Given the description of an element on the screen output the (x, y) to click on. 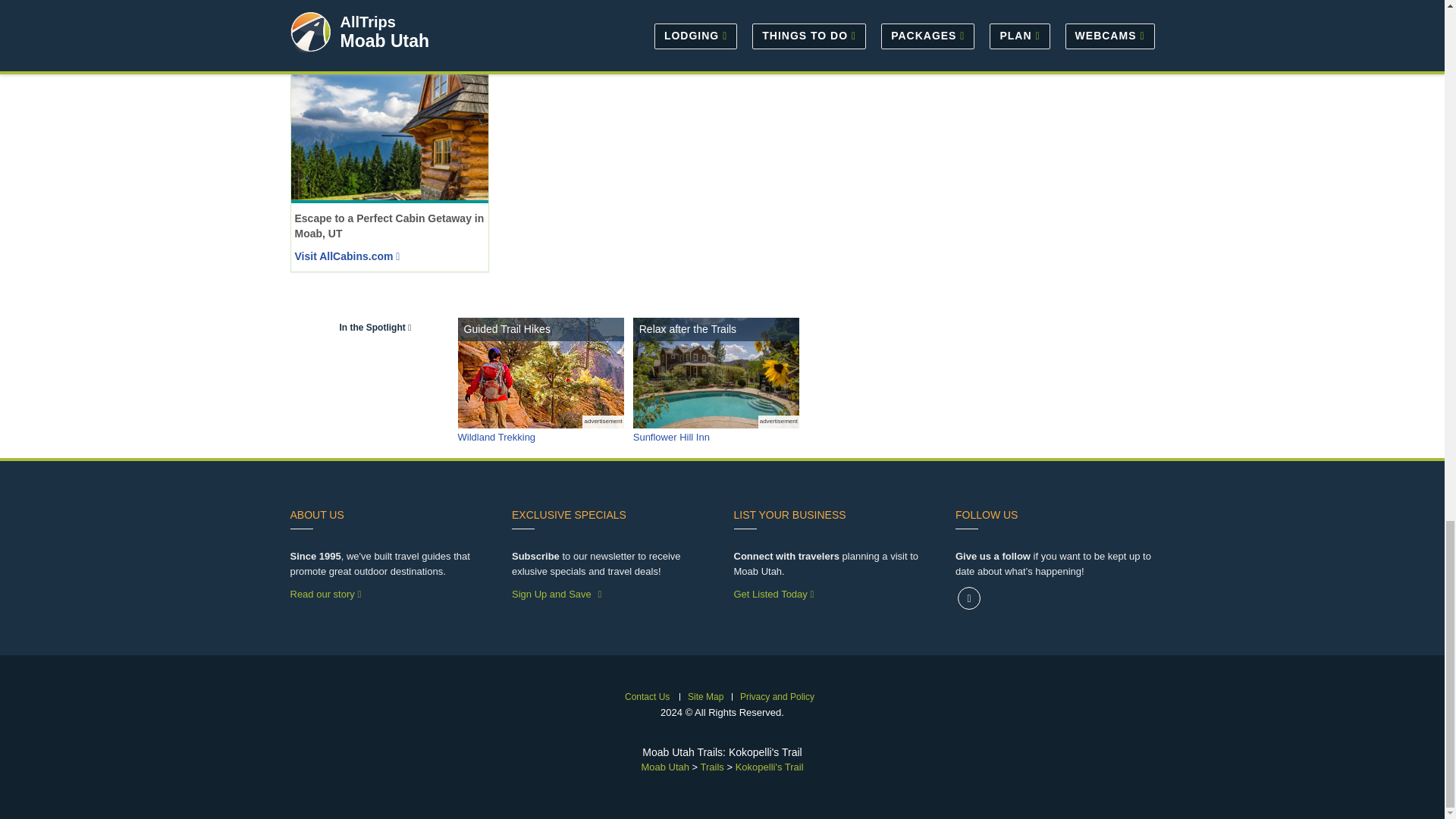
Trails (711, 767)
Kokopelli's Trail (769, 767)
Moab Utah (664, 767)
